Given the description of an element on the screen output the (x, y) to click on. 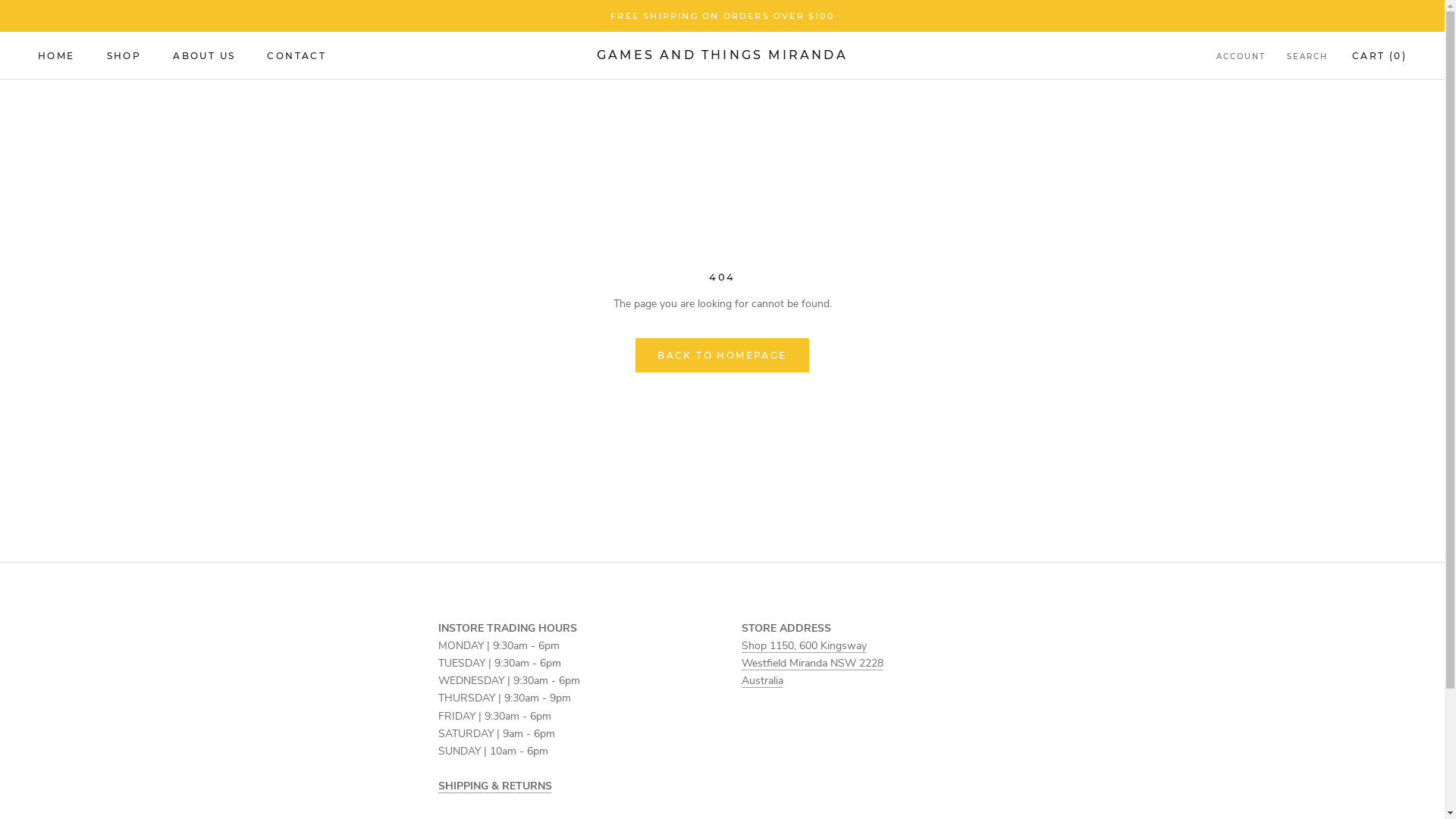
CART (0) Element type: text (1379, 55)
BACK TO HOMEPAGE Element type: text (721, 355)
ABOUT US
ABOUT US Element type: text (203, 55)
HOME
HOME Element type: text (56, 55)
ACCOUNT Element type: text (1240, 56)
SHIPPING & RETURNS Element type: text (495, 785)
Shop 1150, 600 Kingsway
Westfield Miranda NSW 2228
Australia Element type: text (812, 662)
SHOP Element type: text (123, 55)
SEARCH Element type: text (1306, 56)
CONTACT
CONTACT Element type: text (296, 55)
GAMES AND THINGS MIRANDA Element type: text (721, 55)
